Given the description of an element on the screen output the (x, y) to click on. 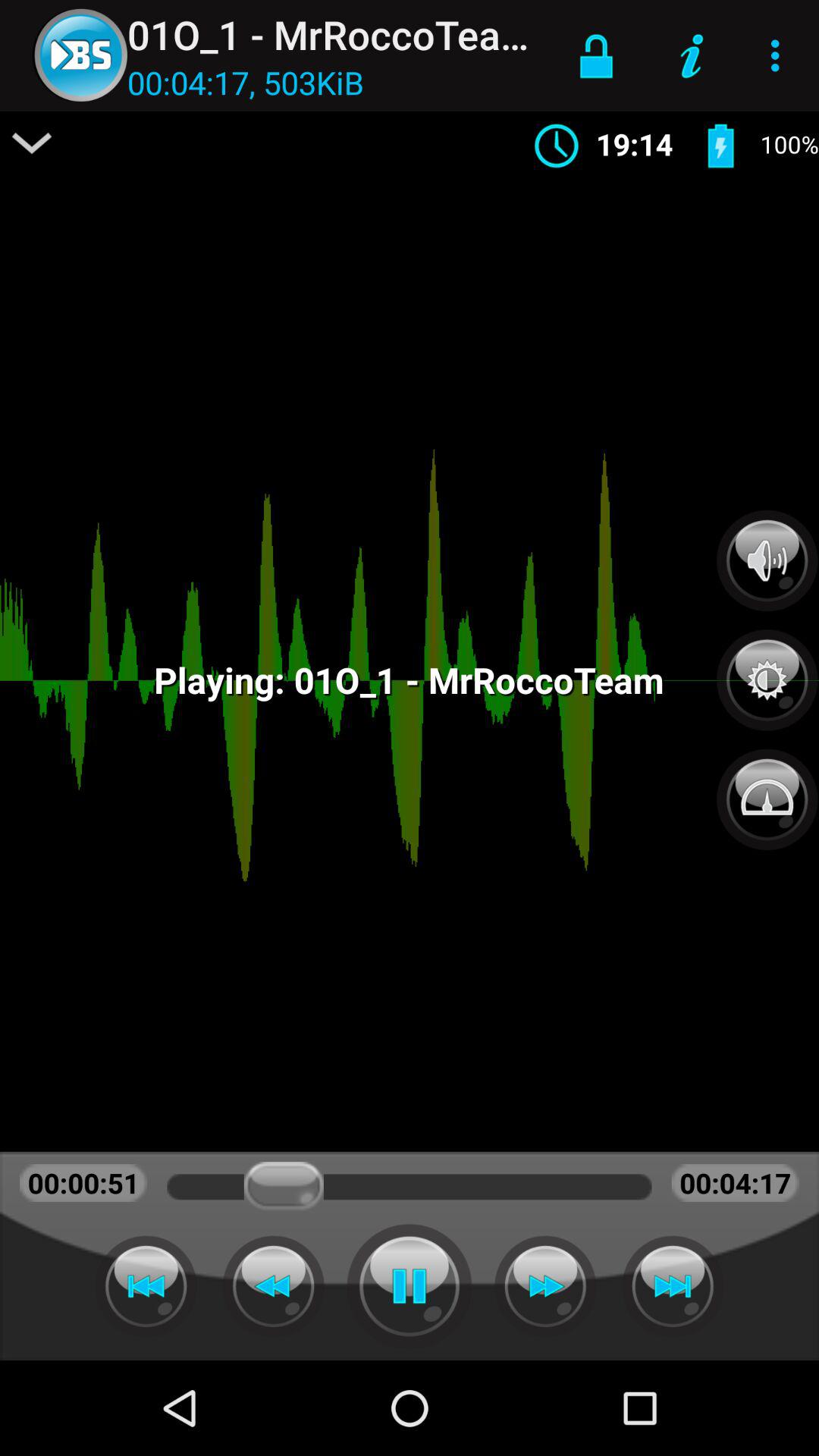
select app to the left of 00 04 17 (31, 143)
